Given the description of an element on the screen output the (x, y) to click on. 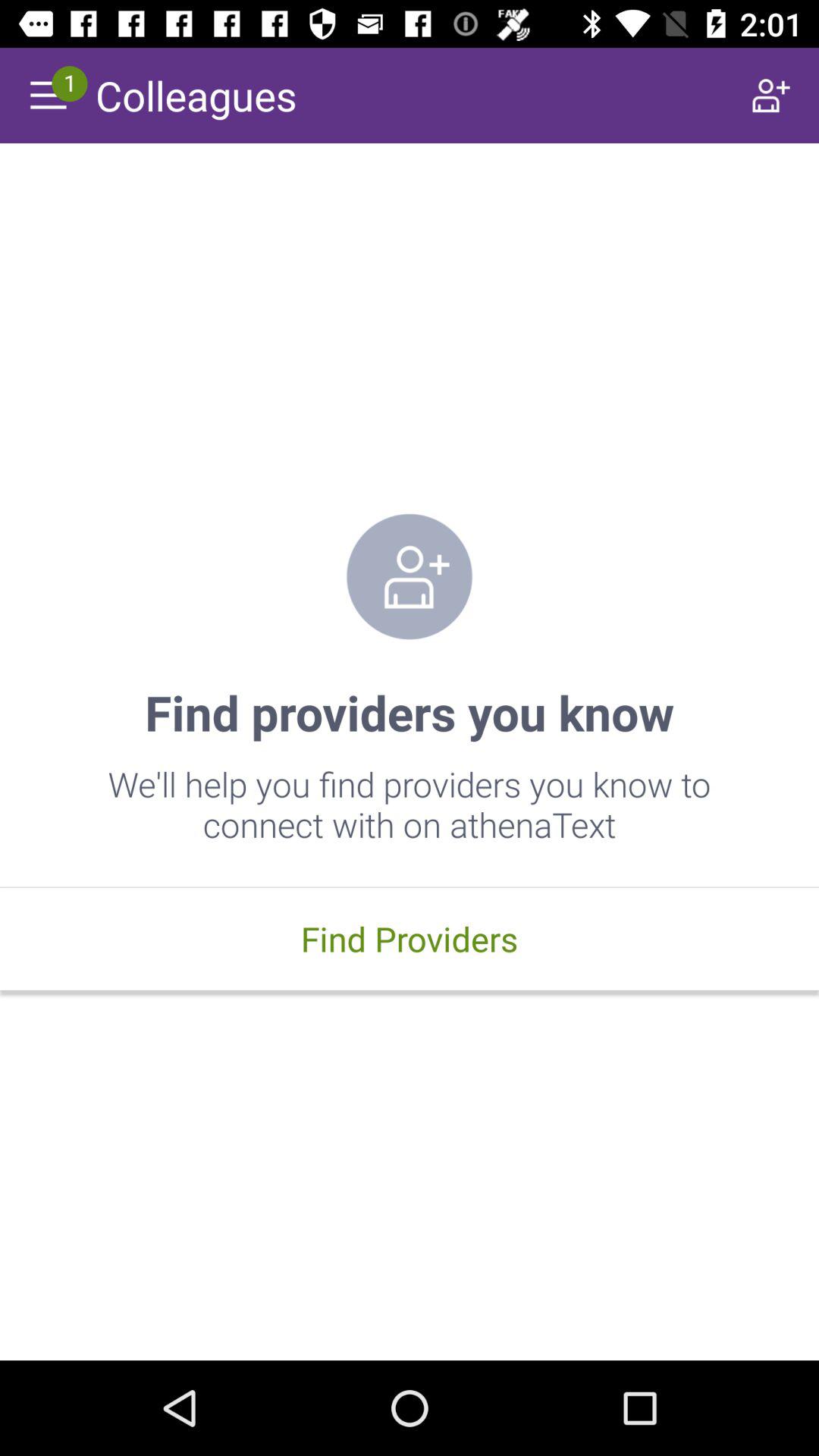
open menu (47, 95)
